Given the description of an element on the screen output the (x, y) to click on. 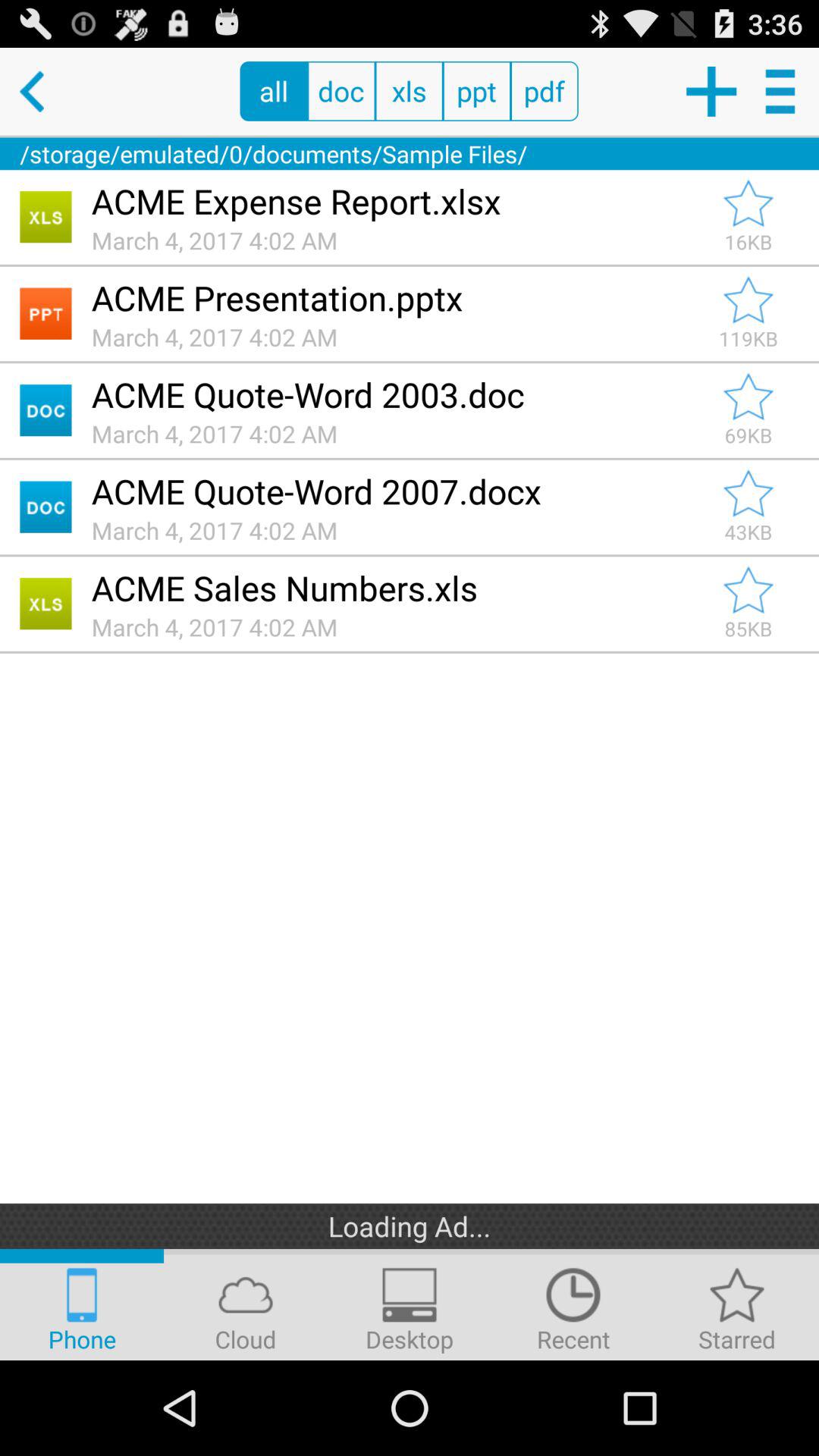
mark as a favorite (748, 203)
